Given the description of an element on the screen output the (x, y) to click on. 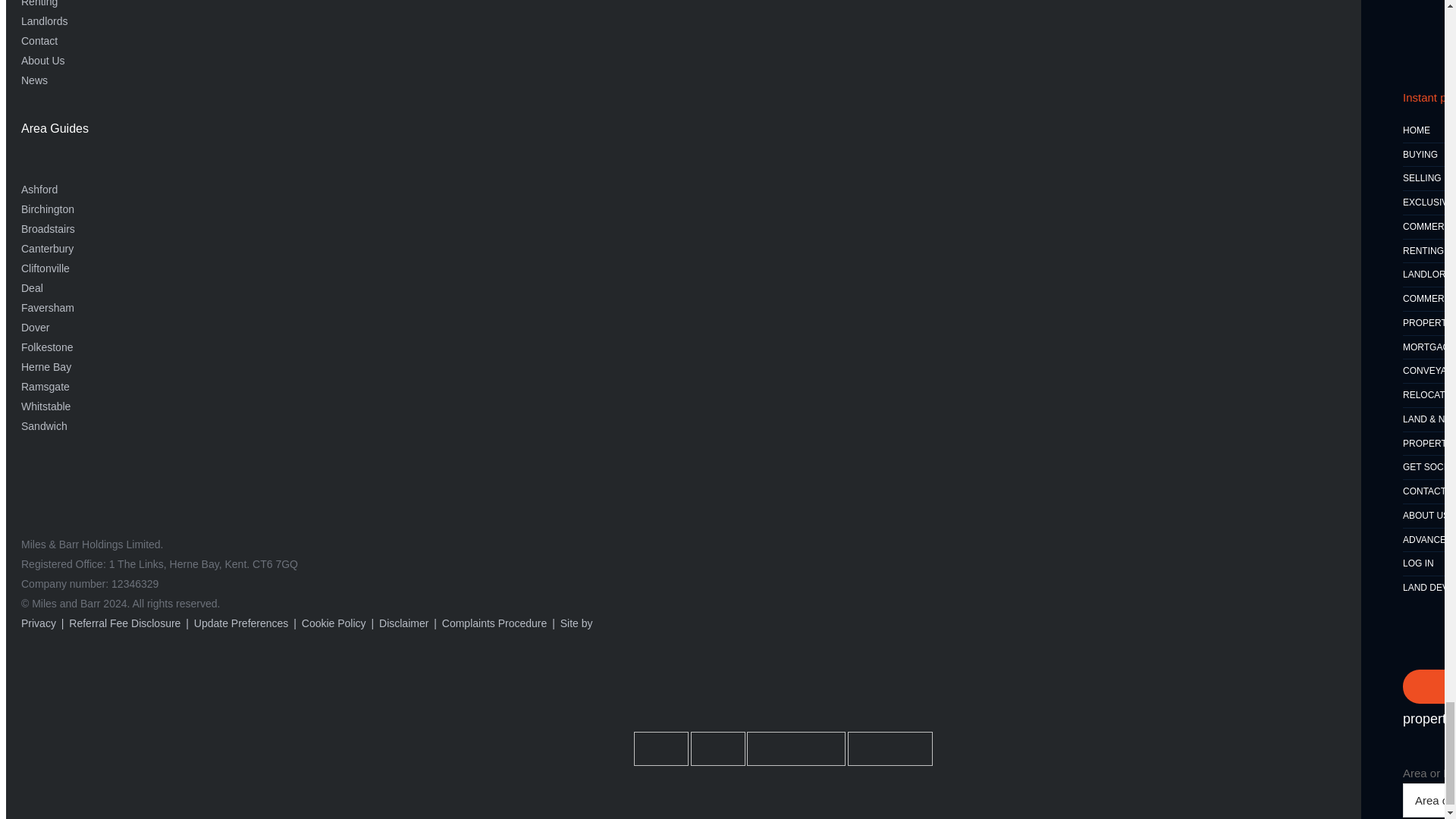
Herne Bay (46, 367)
Broadstairs (48, 228)
Dover (35, 327)
Canterbury (47, 248)
About Us (43, 60)
Folkestone (46, 346)
Landlords (44, 21)
Faversham (47, 307)
Update Preferences (240, 623)
Whitstable (45, 406)
Privacy (38, 623)
Sandwich (43, 426)
Ramsgate (45, 386)
Deal (32, 287)
Ashford (39, 189)
